Given the description of an element on the screen output the (x, y) to click on. 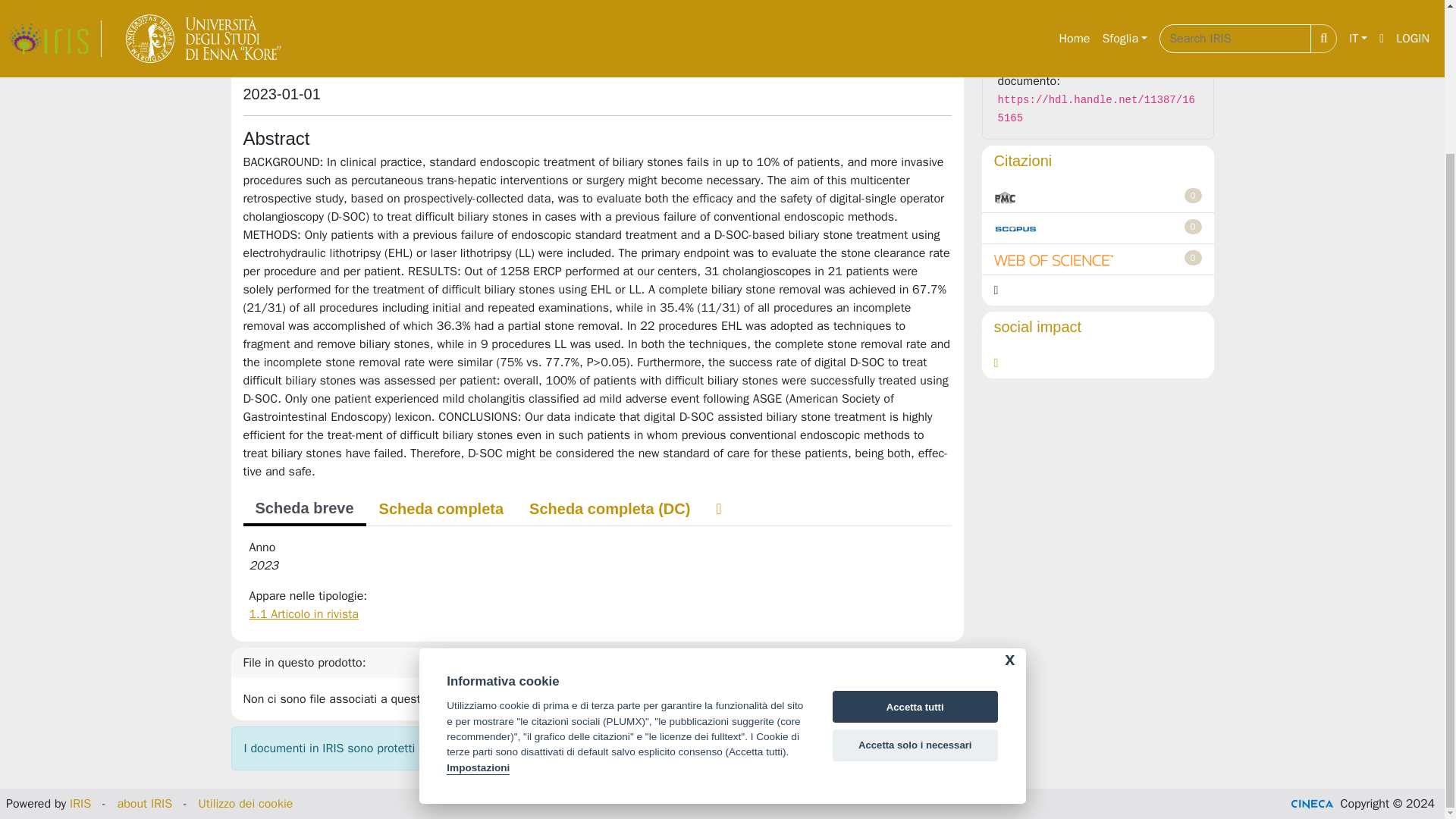
1.1 Articolo in rivista (303, 613)
Scheda breve (304, 509)
about IRIS (145, 803)
 Informazioni (1097, 11)
IRIS (79, 803)
Scheda completa (441, 508)
Maida, Marcello (299, 62)
aggiornato in data 01-08-2024 08:31 (1193, 195)
